Given the description of an element on the screen output the (x, y) to click on. 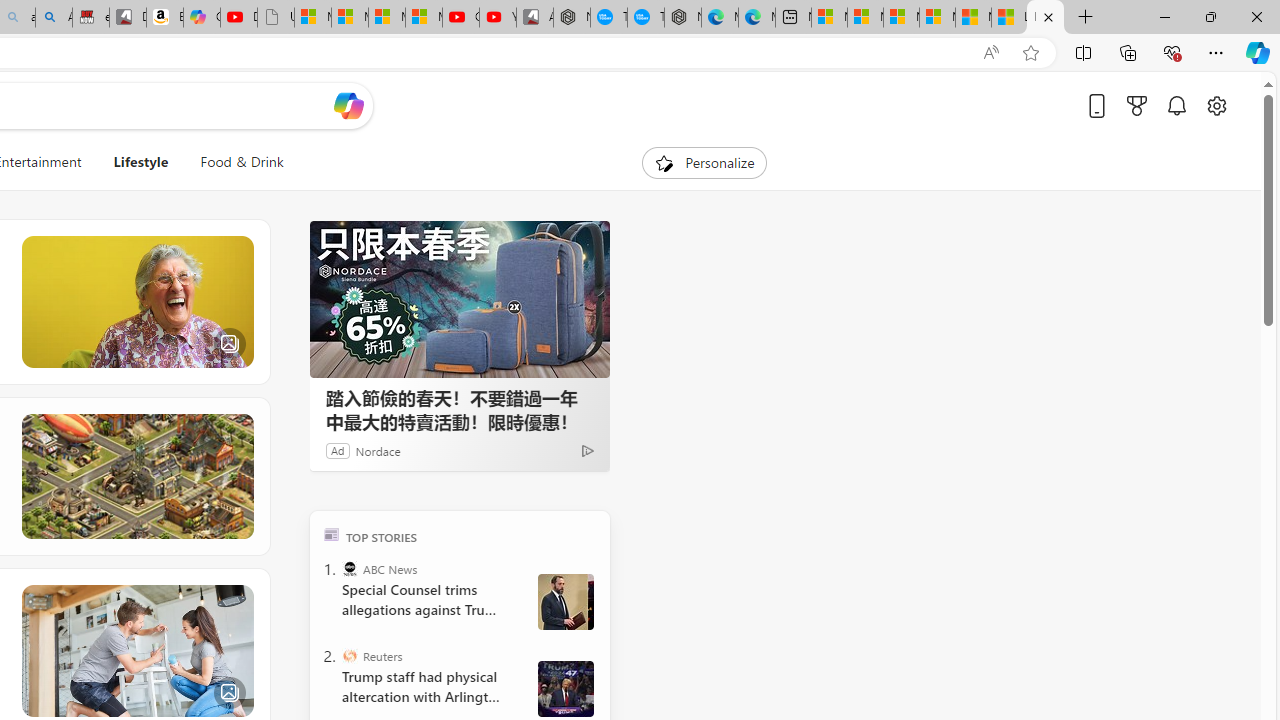
Untitled (276, 17)
Reuters (349, 655)
YouTube Kids - An App Created for Kids to Explore Content (497, 17)
Food & Drink (241, 162)
Ad (338, 450)
The most popular Google 'how to' searches (646, 17)
Lifestyle - MSN (1045, 17)
Personalize (703, 162)
Ad Choice (587, 449)
